Given the description of an element on the screen output the (x, y) to click on. 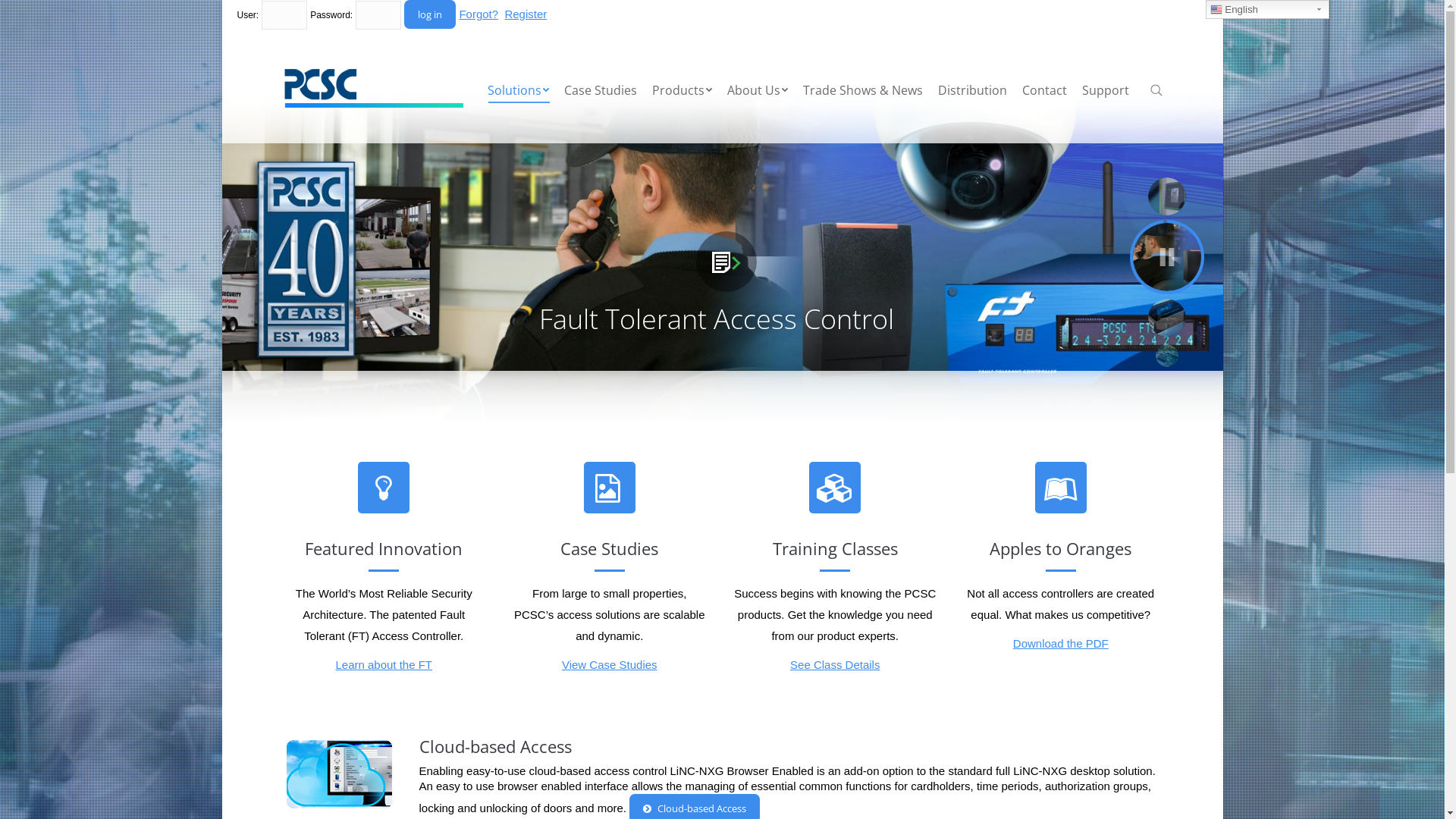
Contact Element type: text (1044, 89)
View Case Studies Element type: text (609, 664)
Case Studies Element type: text (600, 89)
Trade Shows & News Element type: text (862, 89)
Download the PDF Element type: text (1060, 643)
Register Element type: text (525, 13)
details Element type: text (726, 260)
Support Element type: text (1105, 89)
Solutions Element type: text (518, 89)
English Element type: text (1267, 9)
Cloud-based Access Element type: text (494, 745)
log in Element type: text (429, 14)
About Us Element type: text (757, 89)
  Element type: text (1155, 90)
Distribution Element type: text (972, 89)
Learn about the FT Element type: text (383, 664)
Products Element type: text (681, 89)
Go! Element type: text (21, 14)
See Class Details Element type: text (834, 664)
Forgot? Element type: text (478, 13)
